Given the description of an element on the screen output the (x, y) to click on. 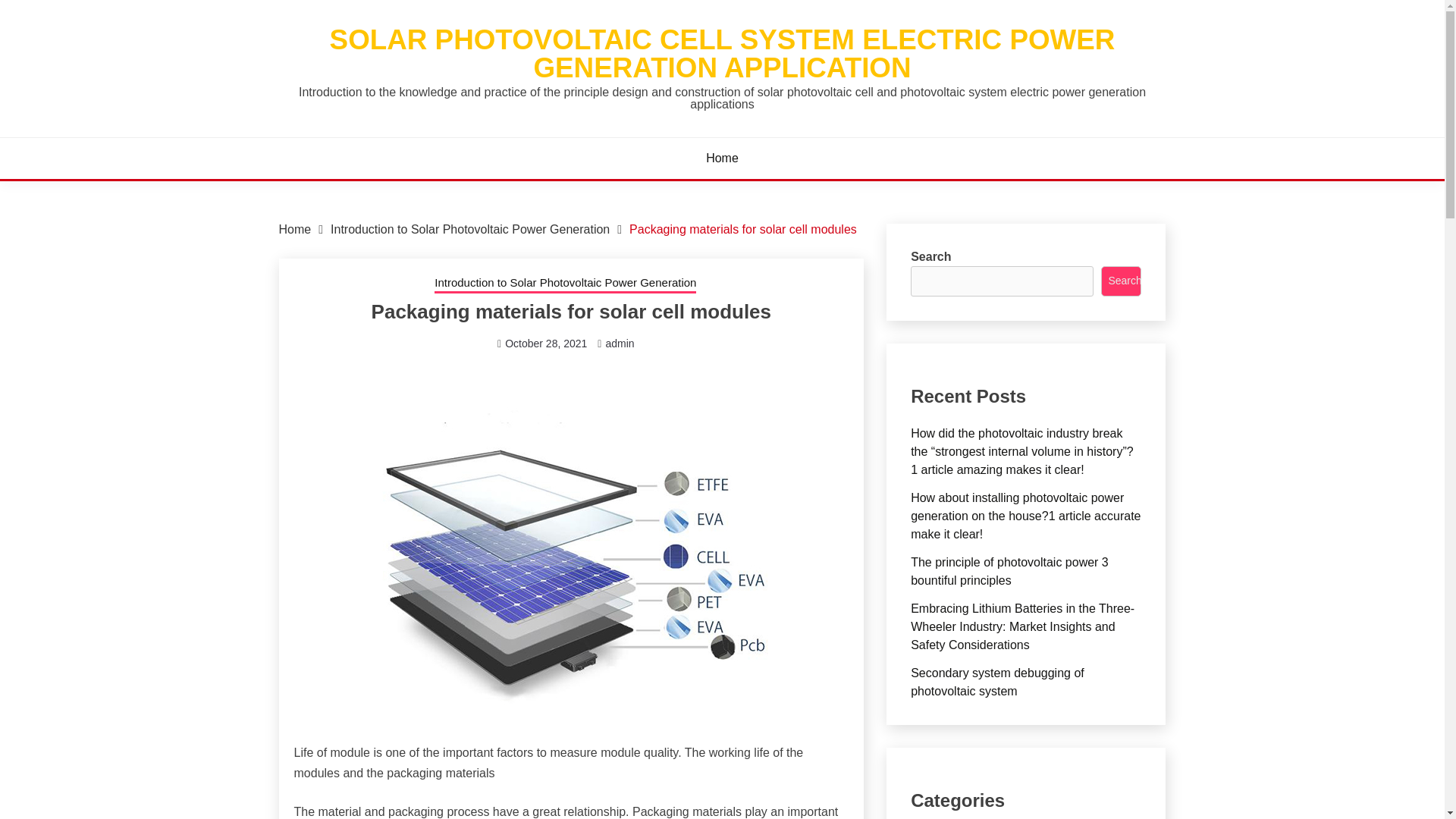
Home (295, 228)
Introduction to Solar Photovoltaic Power Generation (470, 228)
Home (722, 158)
Packaging materials for solar cell modules (742, 228)
The principle of photovoltaic power 3 bountiful principles (1009, 571)
Introduction to Solar Photovoltaic Power Generation (564, 284)
Secondary system debugging of photovoltaic system (997, 681)
October 28, 2021 (545, 343)
admin (619, 343)
Search (1120, 281)
